Given the description of an element on the screen output the (x, y) to click on. 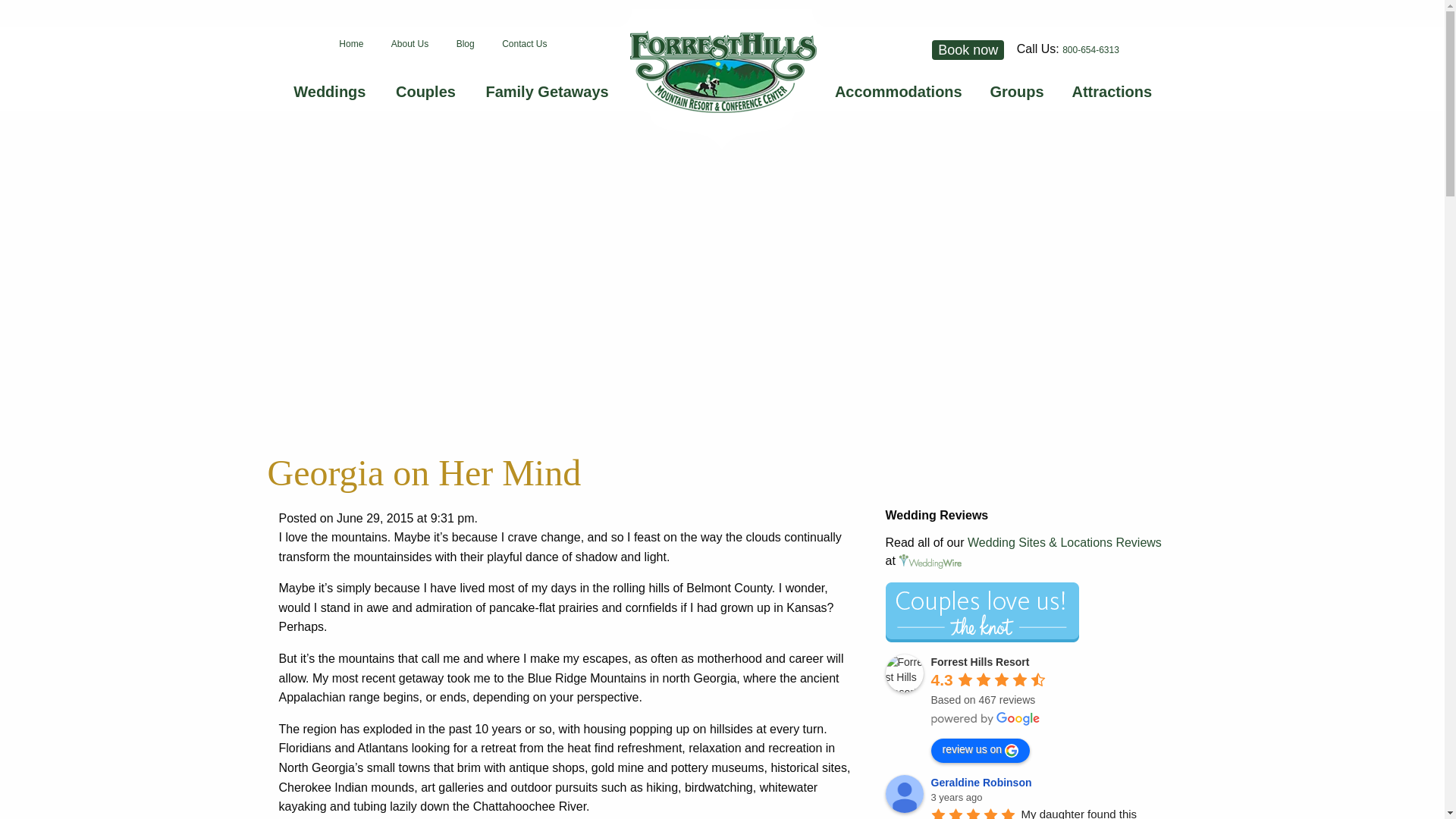
800-654-6313 (1090, 50)
Book now (972, 49)
Accommodations (898, 91)
Geraldine Robinson (904, 793)
powered by Google (986, 718)
Family Getaways (546, 91)
Home (350, 43)
Groups (1017, 91)
Attractions (1111, 91)
Weddings (329, 91)
Contact Us (524, 43)
Couples (425, 91)
Forrest Hills Resort (904, 673)
About Us (409, 43)
Blog (465, 43)
